Given the description of an element on the screen output the (x, y) to click on. 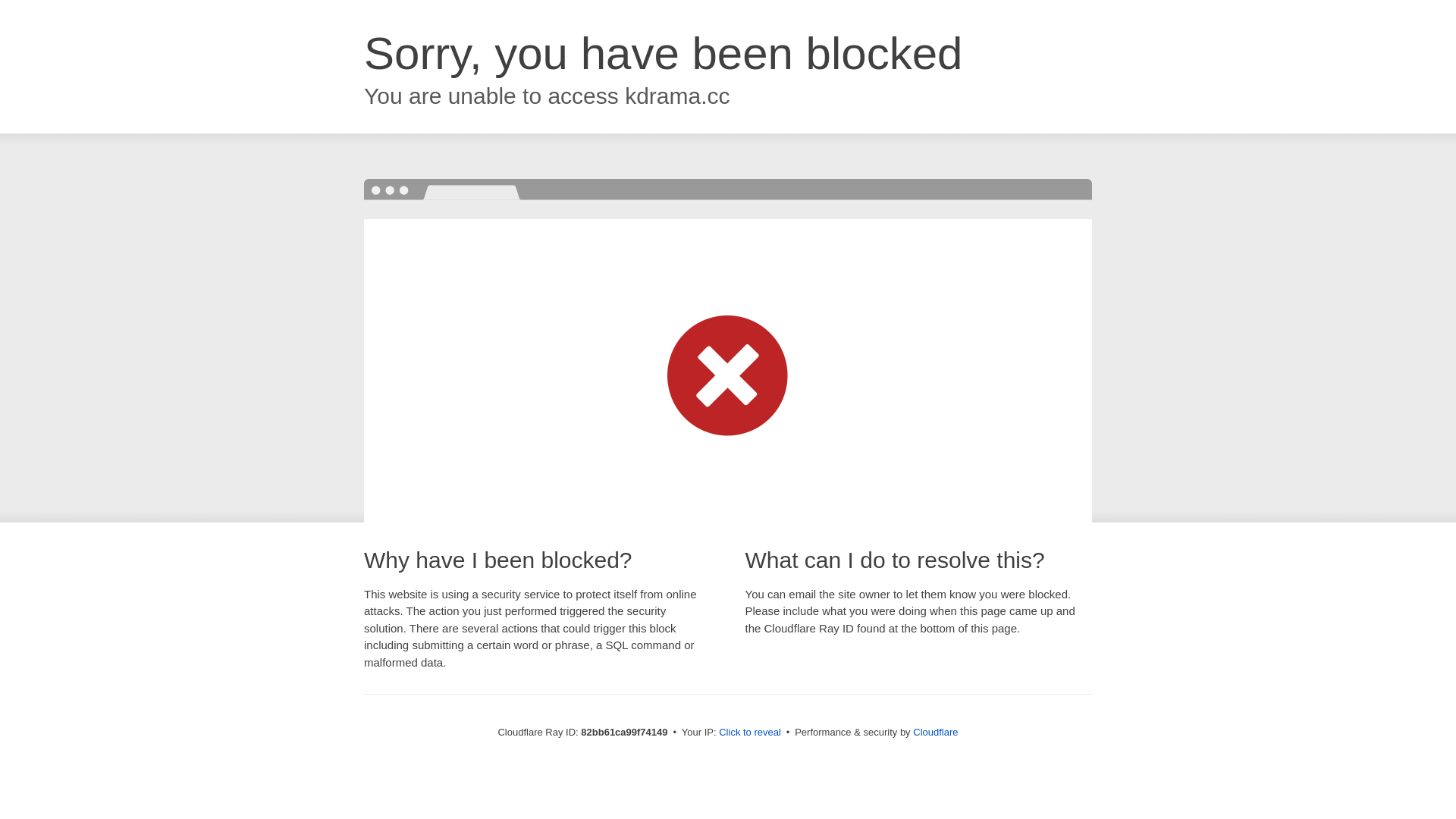
Click to reveal Element type: text (749, 732)
Cloudflare Element type: text (935, 731)
